Given the description of an element on the screen output the (x, y) to click on. 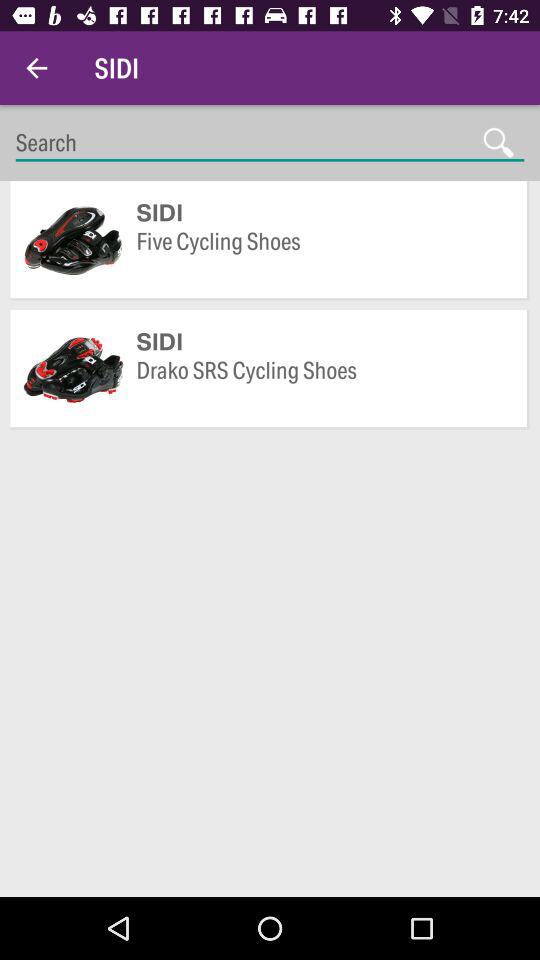
open item to the left of sidi icon (36, 68)
